Given the description of an element on the screen output the (x, y) to click on. 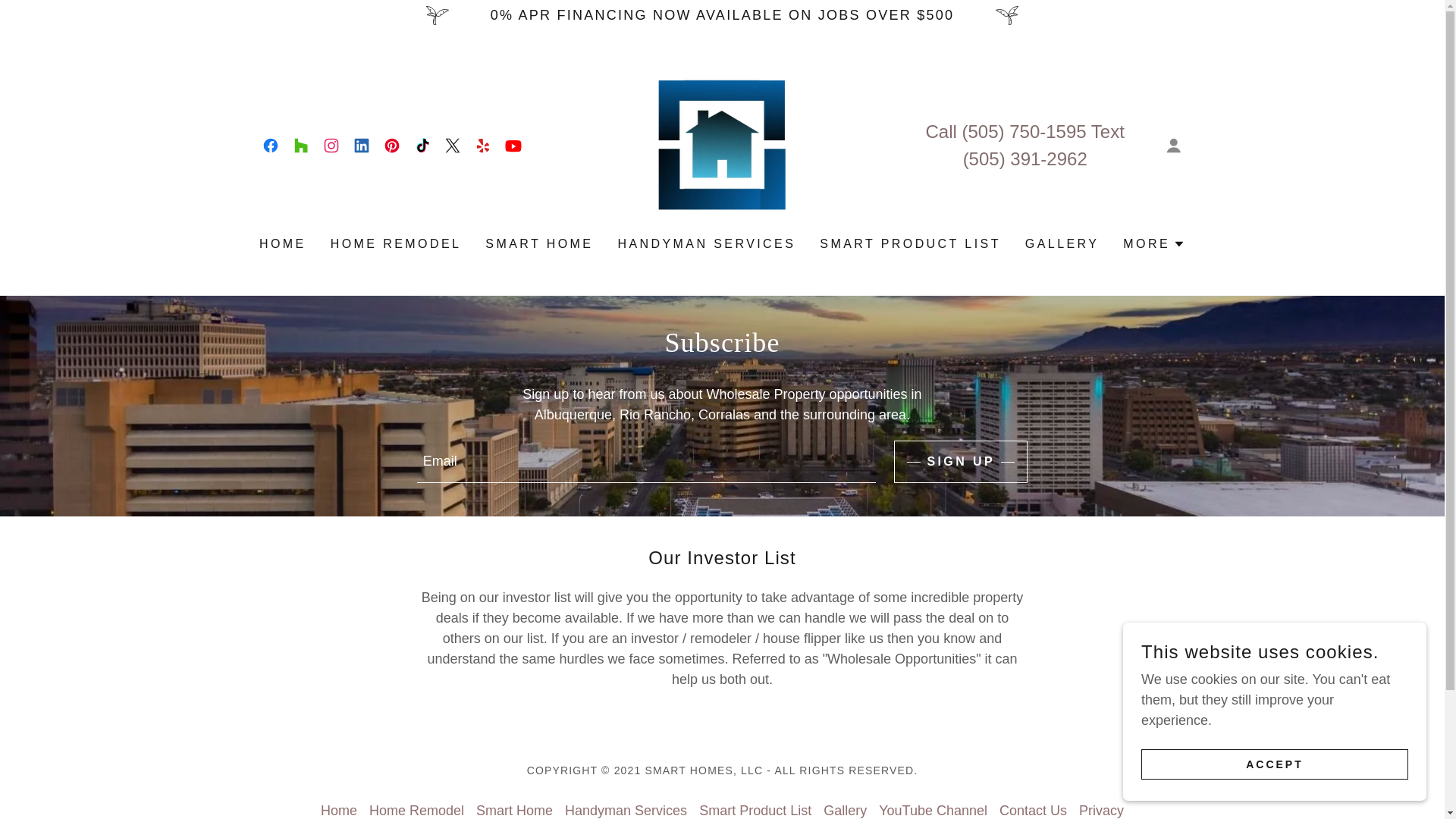
HOME (282, 243)
SMART PRODUCT LIST (910, 243)
GALLERY (1061, 243)
HANDYMAN SERVICES (705, 243)
MORE (1153, 244)
HOME REMODEL (395, 243)
Smart Homes, LLC (722, 143)
SMART HOME (538, 243)
